Given the description of an element on the screen output the (x, y) to click on. 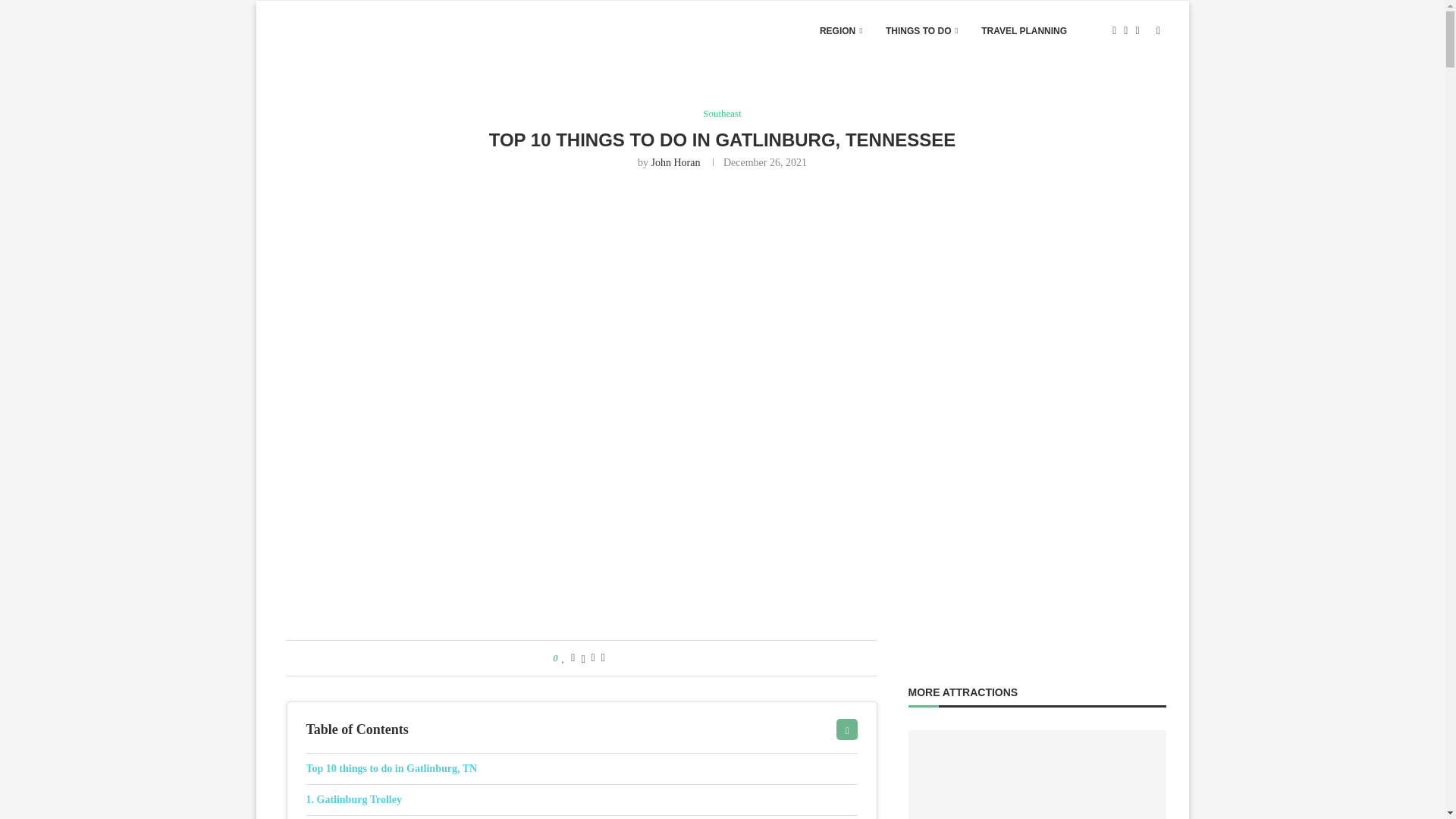
John Horan (675, 162)
Southeast (722, 113)
1. Gatlinburg Trolley (582, 799)
THINGS TO DO (921, 30)
Top 10 things to do in Gatlinburg, TN (582, 768)
TRAVEL PLANNING (1024, 30)
Top 10 things to do in Gatlinburg, TN (582, 768)
1. Gatlinburg Trolley (582, 799)
